Given the description of an element on the screen output the (x, y) to click on. 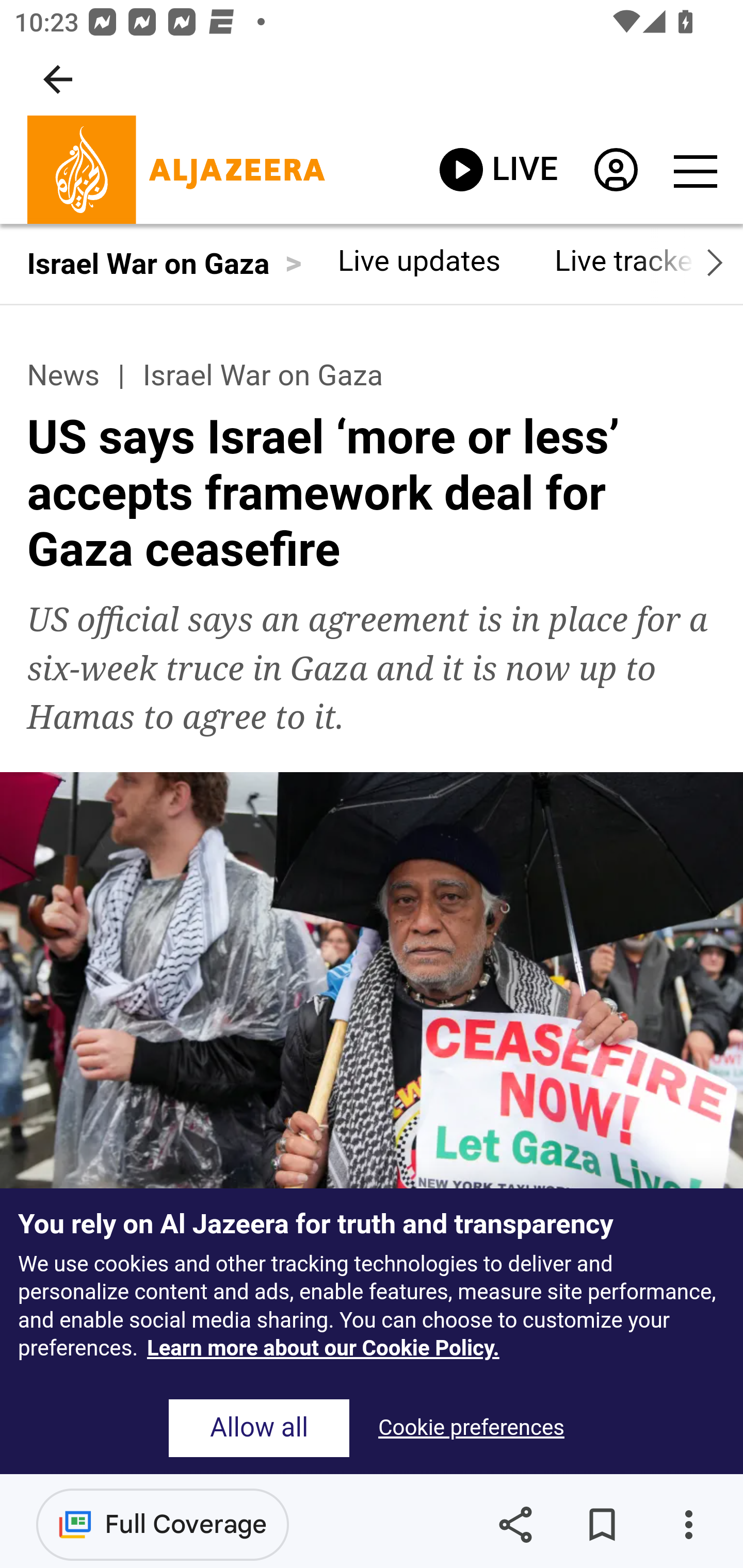
Navigate up (57, 79)
al jazeera, link to home page (176, 170)
link to live stream video player LIVE (498, 169)
Sign in (615, 173)
Show navigation menu (694, 170)
Live updates (418, 260)
Live tracker (629, 260)
Israel War on Gaza > Israel War on Gaza  > (164, 263)
News (63, 375)
Israel War on Gaza (262, 375)
Allow all (258, 1428)
Cookie preferences (470, 1428)
Share (514, 1524)
Save for later (601, 1524)
More options (688, 1524)
Full Coverage (162, 1524)
